Given the description of an element on the screen output the (x, y) to click on. 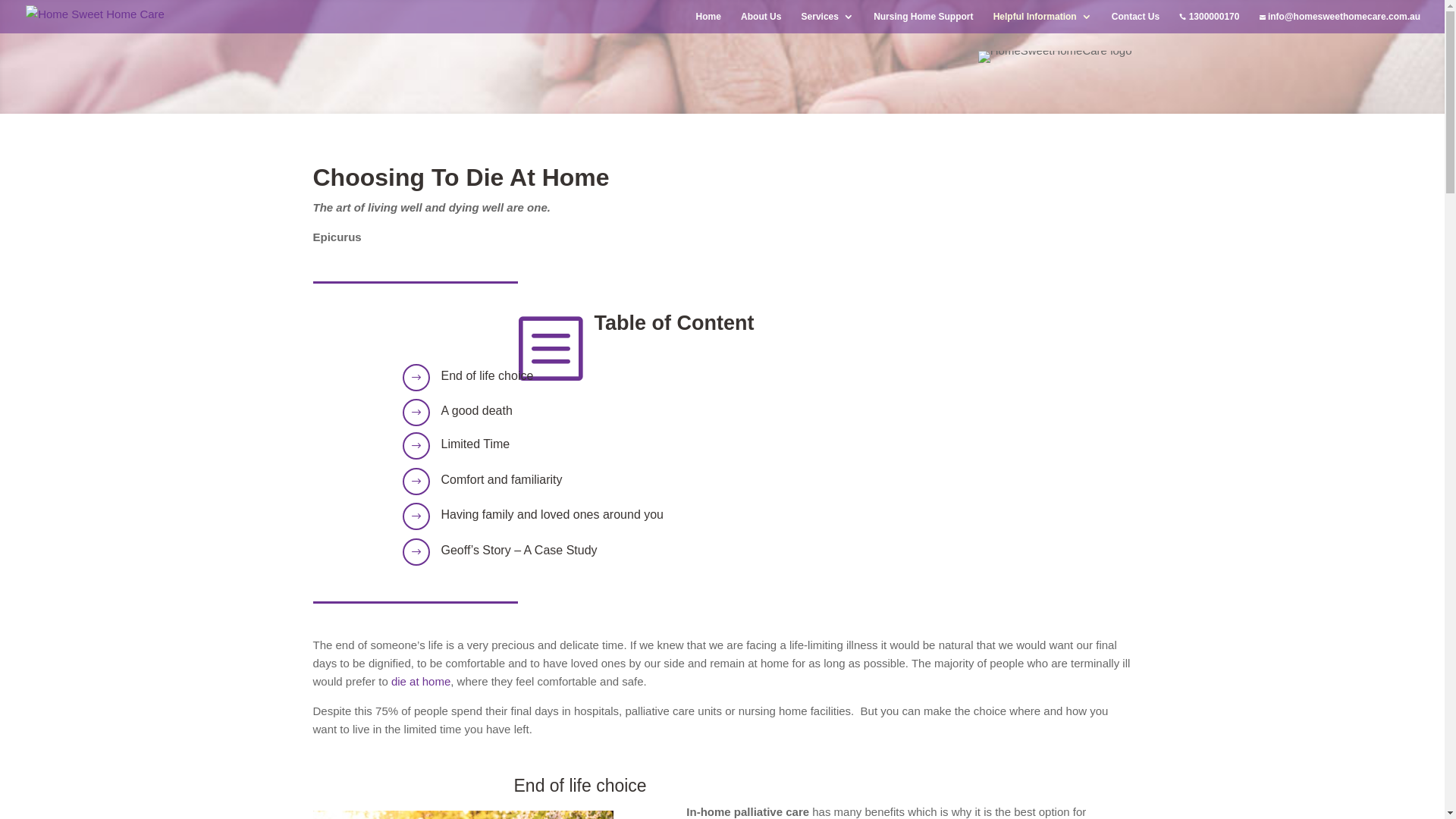
Nursing Home Support Element type: text (922, 22)
b Element type: text (548, 346)
Services Element type: text (827, 22)
HomeSweetHomeCare logo Element type: hover (1055, 56)
Helpful Information Element type: text (1042, 22)
Contact Us Element type: text (1135, 22)
die at home Element type: text (420, 680)
Home Element type: text (708, 22)
About Us Element type: text (760, 22)
Table of Content Element type: text (674, 322)
